Given the description of an element on the screen output the (x, y) to click on. 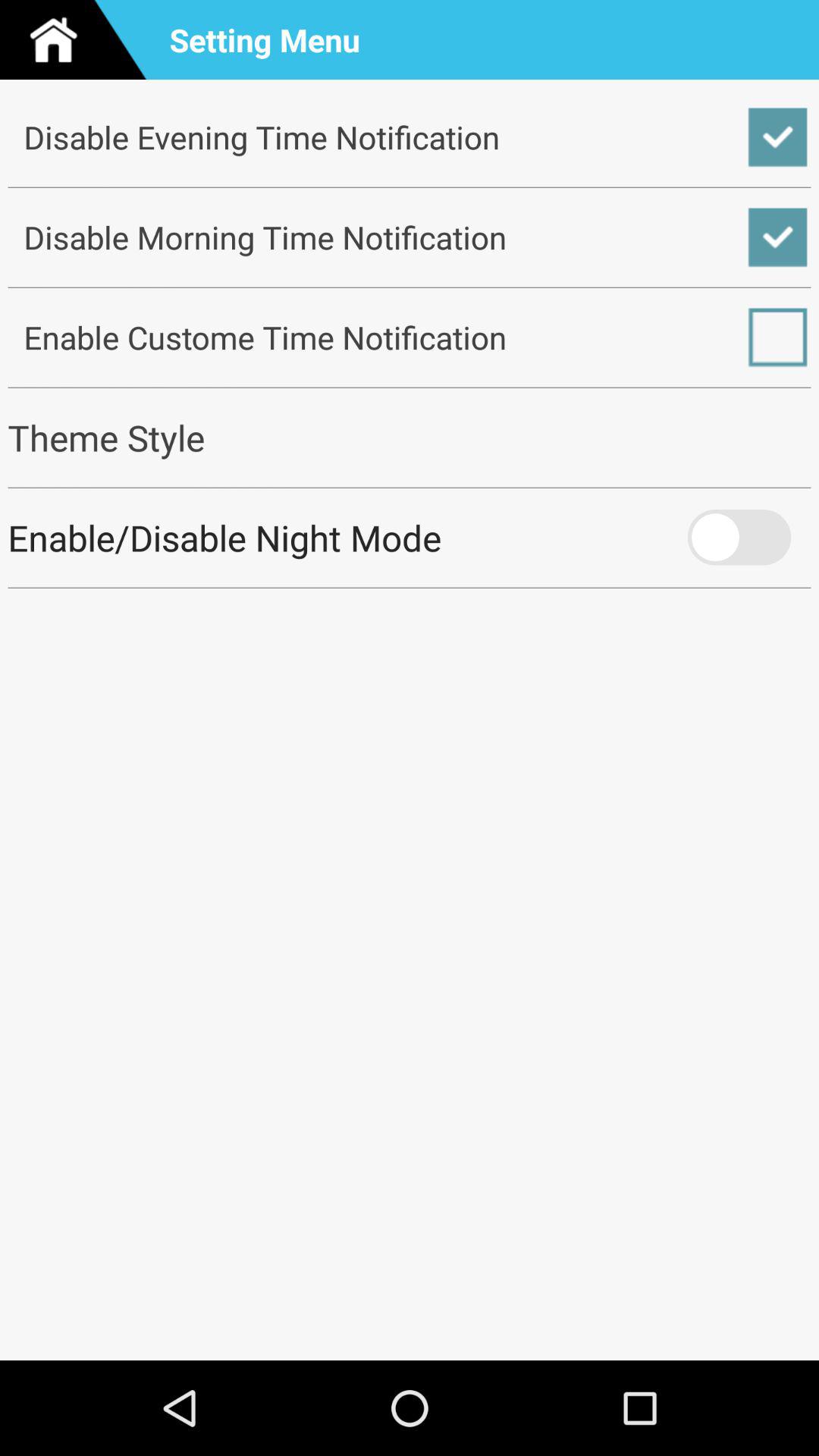
press the checkbox below the disable morning time checkbox (409, 337)
